Given the description of an element on the screen output the (x, y) to click on. 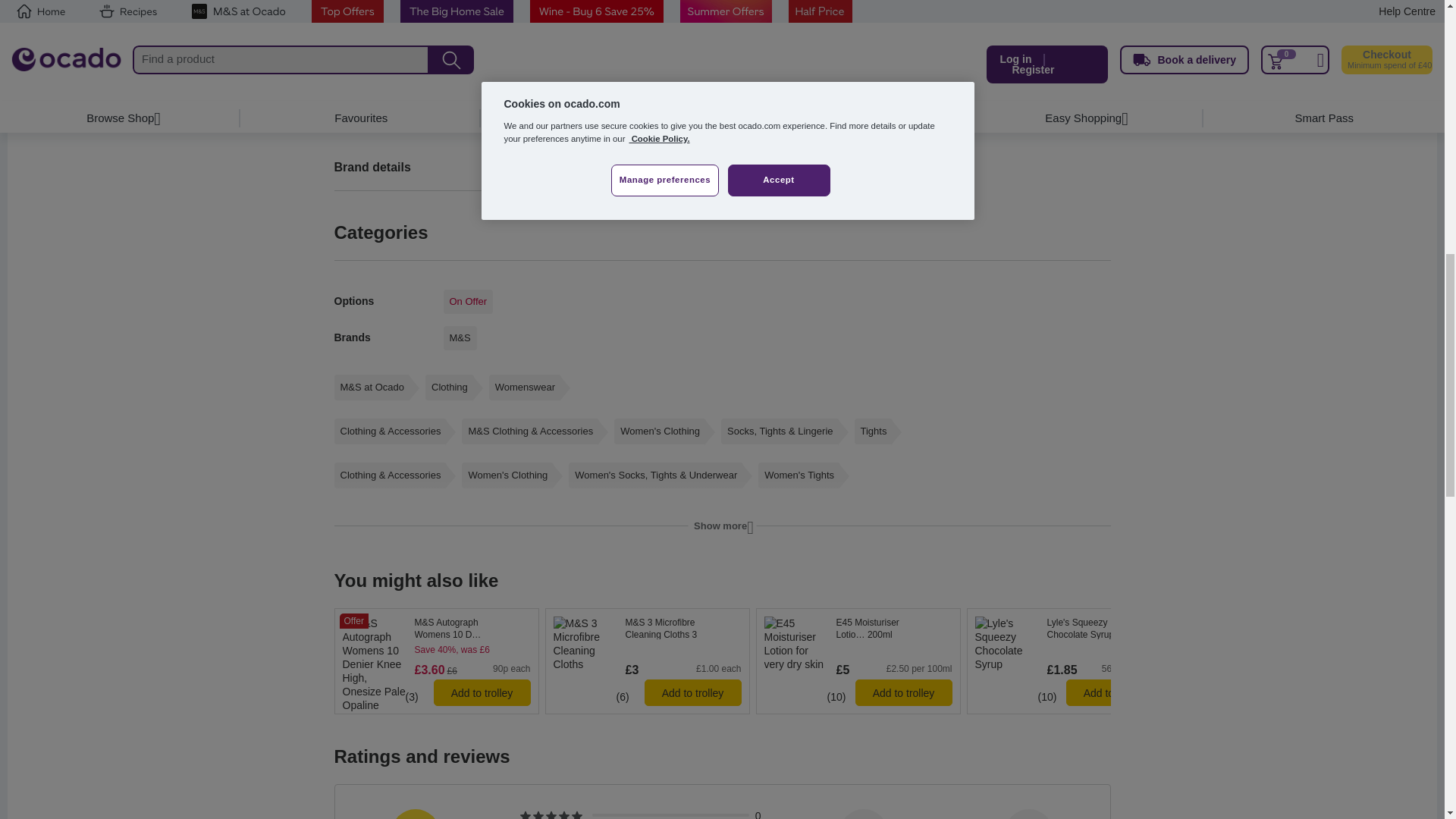
Lyle's Squeezy Chocolate Syrup (1103, 627)
Reviews 2.70 out of 5 (360, 696)
On Offer (467, 301)
Suitable for vegetarians (980, 677)
Brand details (521, 166)
Reviews 5.00 out of 5 (796, 696)
E45 Moisturiser Lotion for very dry skin (893, 627)
Reviews 2.60 out of 5 (992, 696)
Reviews 1.70 out of 5 (564, 696)
